Given the description of an element on the screen output the (x, y) to click on. 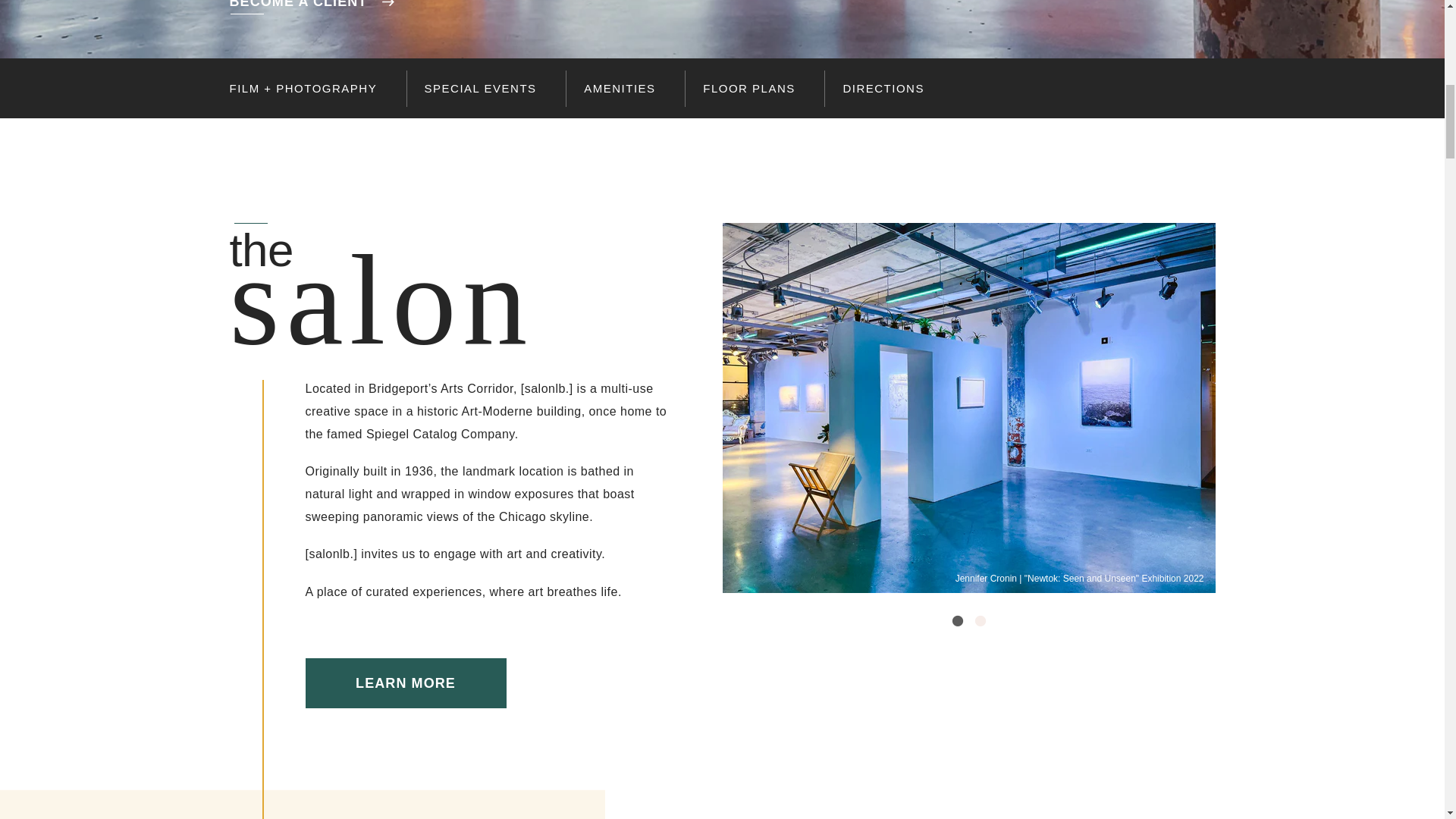
LEARN MORE (404, 683)
DIRECTIONS (888, 87)
SPECIAL EVENTS (486, 87)
FLOOR PLANS (754, 87)
BECOME A CLIENT (311, 4)
1 (956, 620)
2 (979, 620)
AMENITIES (625, 87)
